Given the description of an element on the screen output the (x, y) to click on. 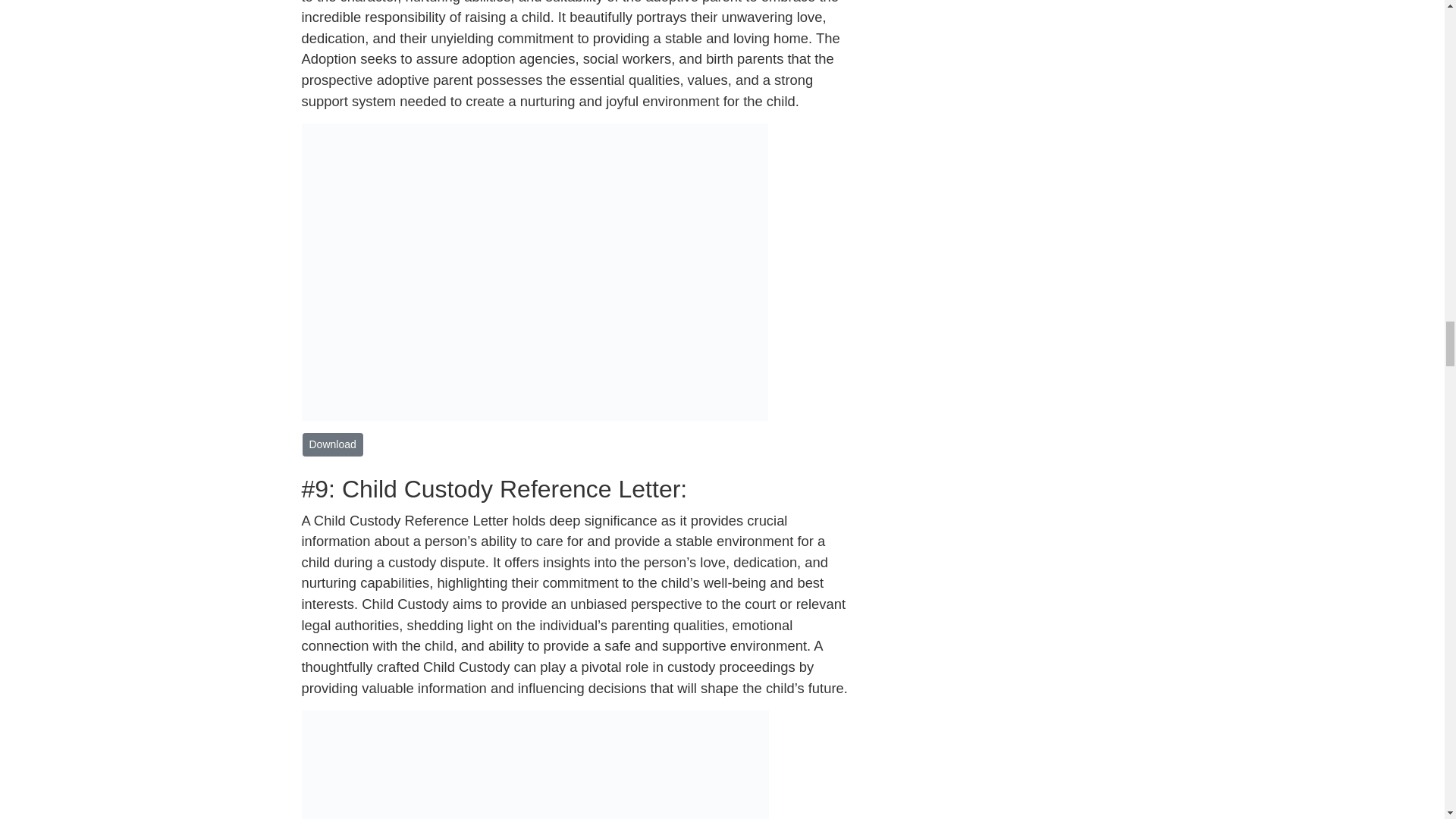
Download (331, 444)
